Given the description of an element on the screen output the (x, y) to click on. 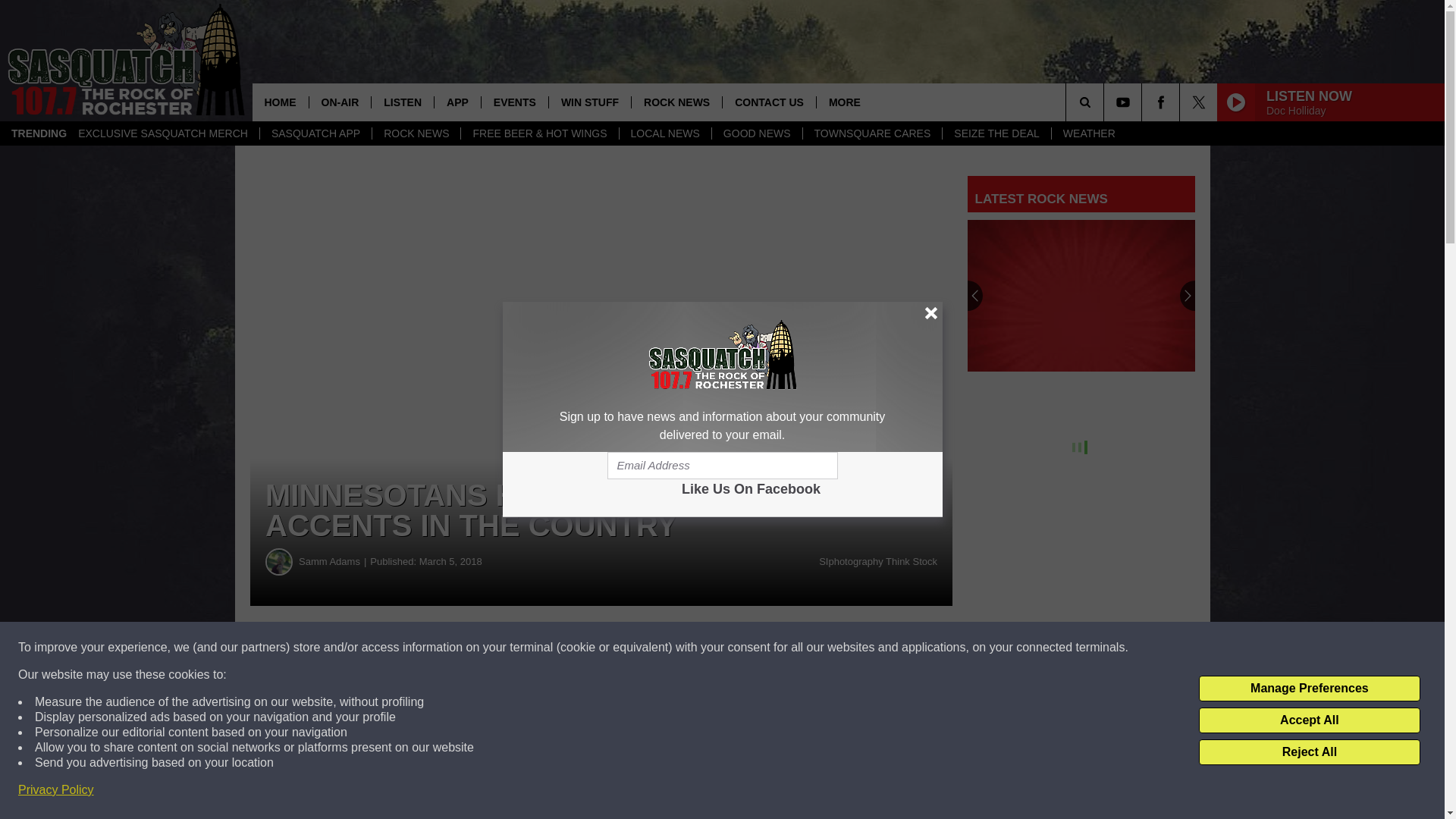
ROCK NEWS (676, 102)
TOWNSQUARE CARES (872, 133)
WIN STUFF (589, 102)
Email Address (722, 465)
Reject All (1309, 751)
Share on Twitter (741, 647)
APP (456, 102)
EVENTS (514, 102)
EXCLUSIVE SASQUATCH MERCH (162, 133)
Privacy Policy (55, 789)
SEARCH (1106, 102)
SASQUATCH APP (315, 133)
LISTEN (402, 102)
Share on Facebook (460, 647)
WEATHER (1088, 133)
